Given the description of an element on the screen output the (x, y) to click on. 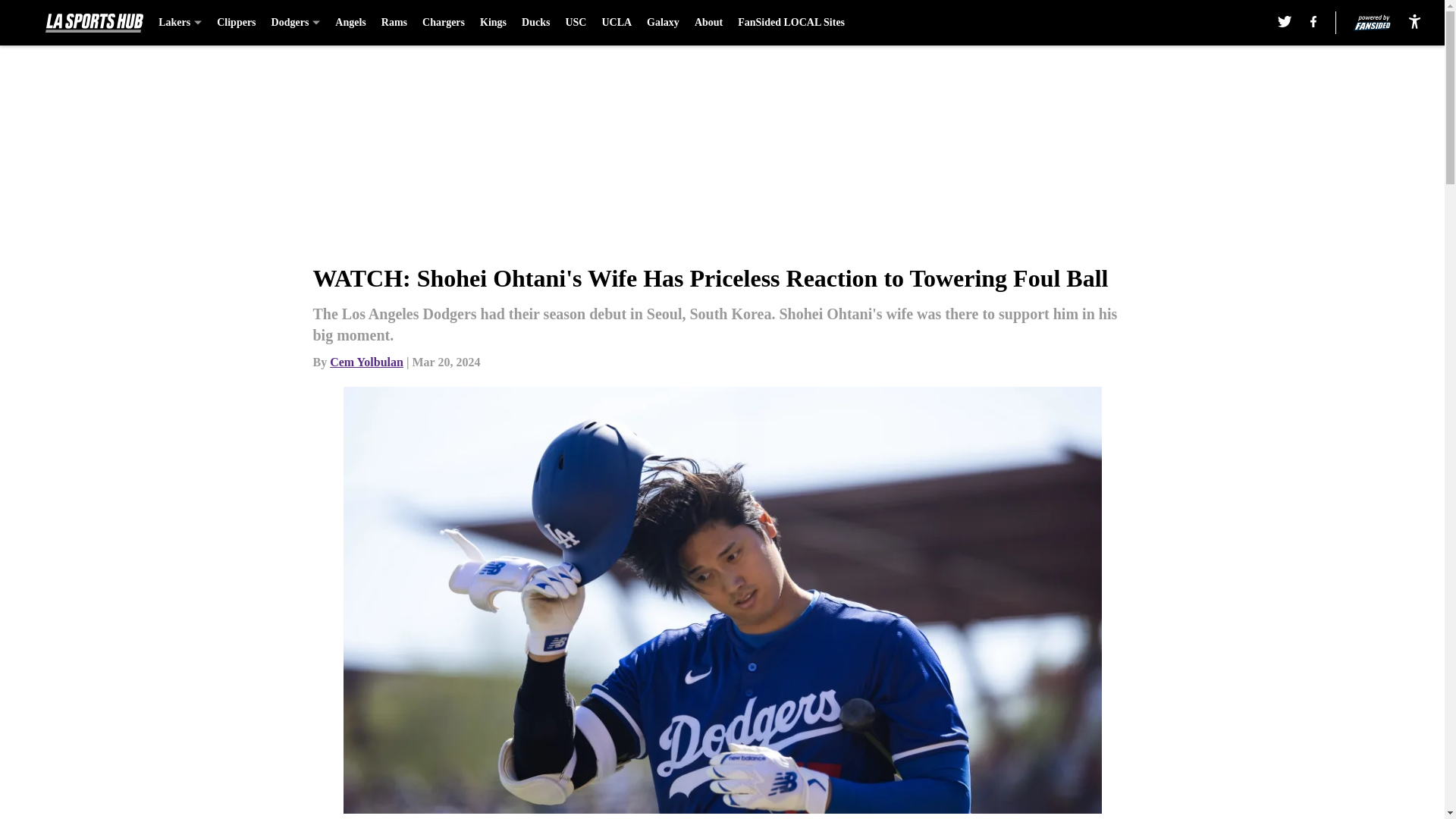
USC (575, 22)
Kings (493, 22)
Chargers (443, 22)
FanSided LOCAL Sites (791, 22)
Ducks (535, 22)
Clippers (236, 22)
Cem Yolbulan (366, 361)
About (708, 22)
Angels (349, 22)
Galaxy (662, 22)
